Given the description of an element on the screen output the (x, y) to click on. 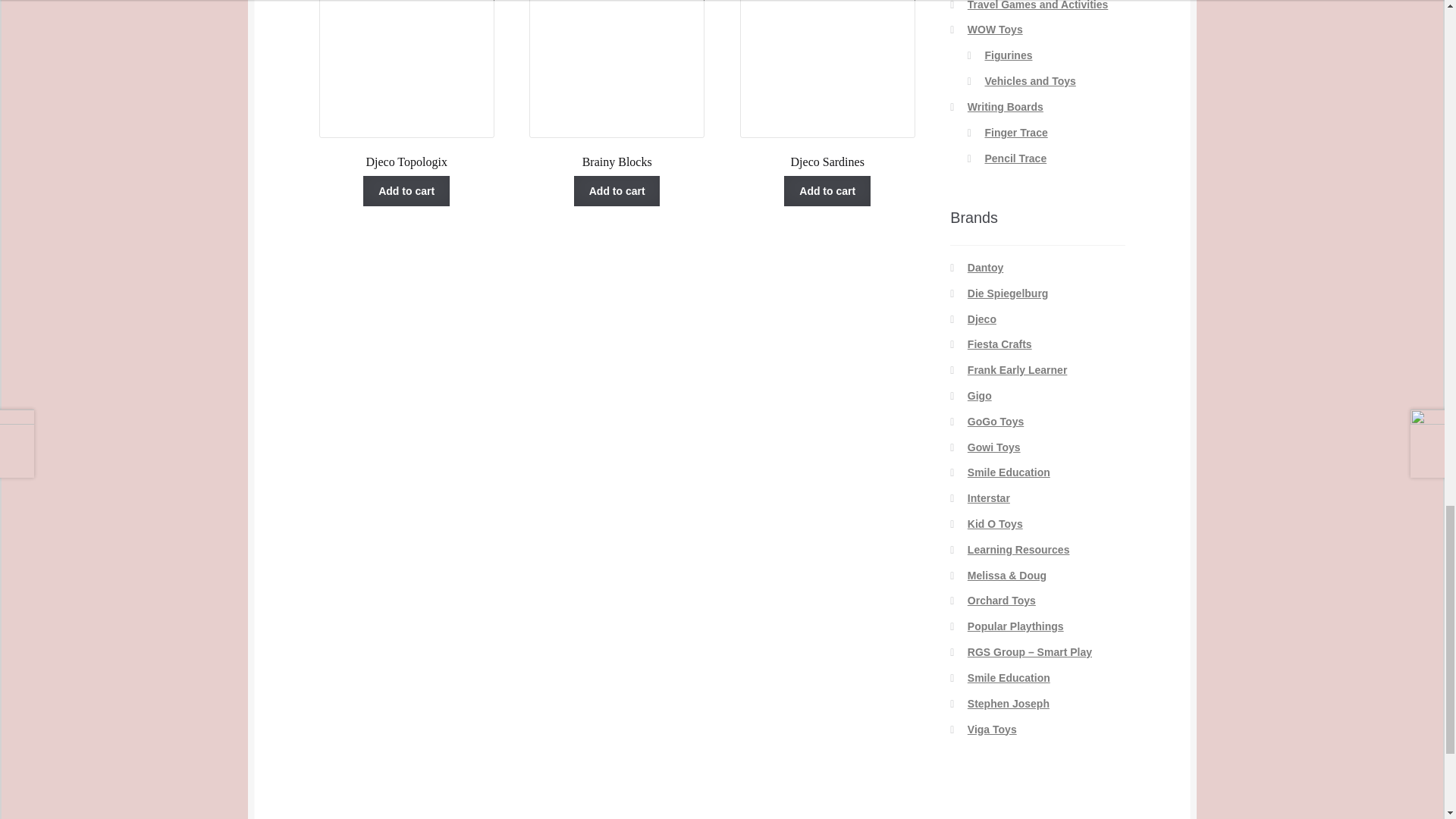
Add to cart (616, 84)
Add to cart (827, 84)
Add to cart (405, 191)
